Given the description of an element on the screen output the (x, y) to click on. 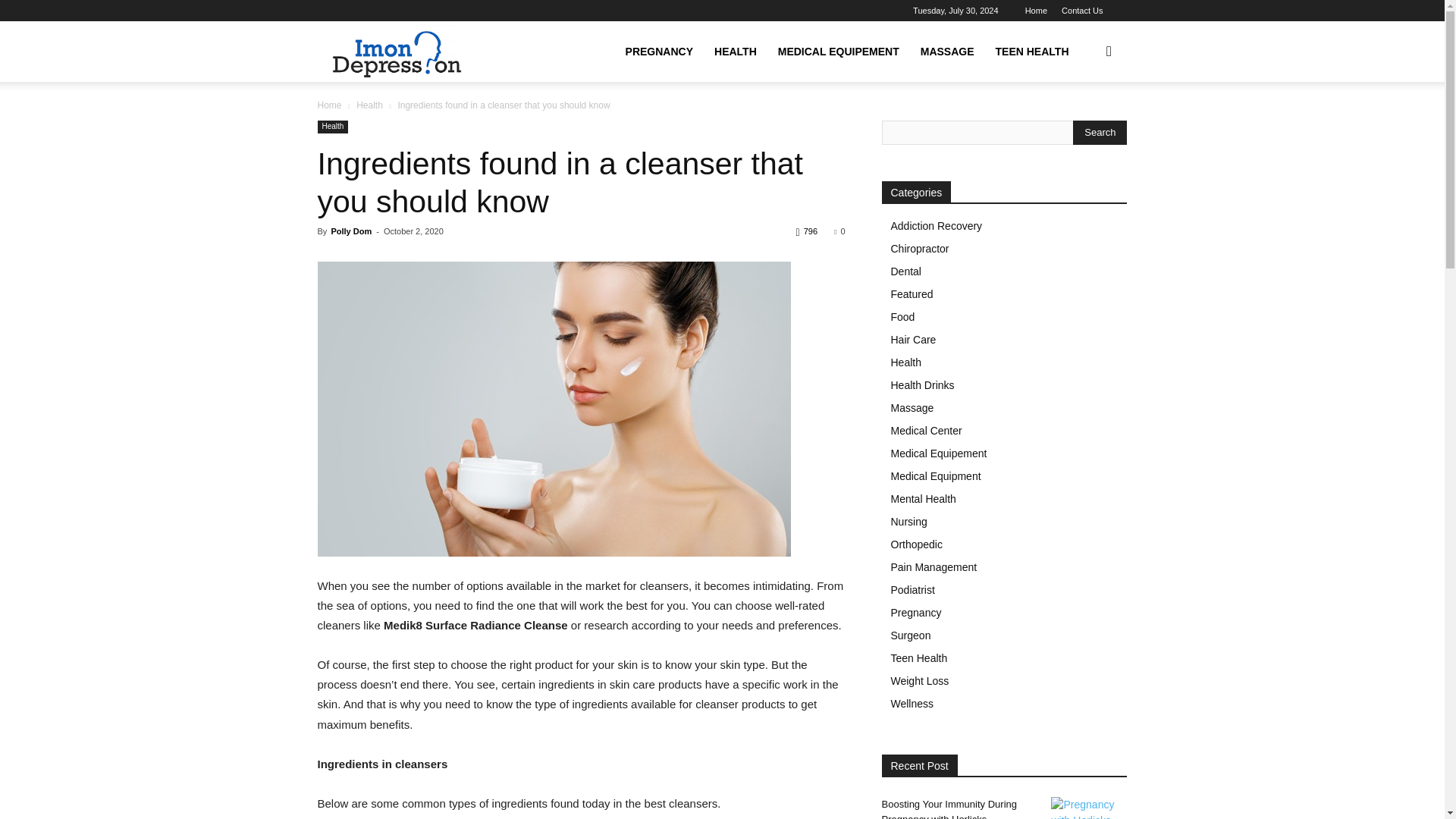
Boosting Your Immunity During Pregnancy with Horlicks (948, 808)
Food (901, 316)
TEEN HEALTH (1032, 51)
imon depression (394, 51)
Chiropractor (919, 248)
Dental (904, 271)
Home (328, 104)
PREGNANCY (658, 51)
Addiction Recovery (935, 225)
Polly Dom (350, 230)
Health (332, 126)
Boosting Your Immunity During Pregnancy with Horlicks (1088, 807)
MEDICAL EQUIPEMENT (838, 51)
View all posts in Health (369, 104)
